Given the description of an element on the screen output the (x, y) to click on. 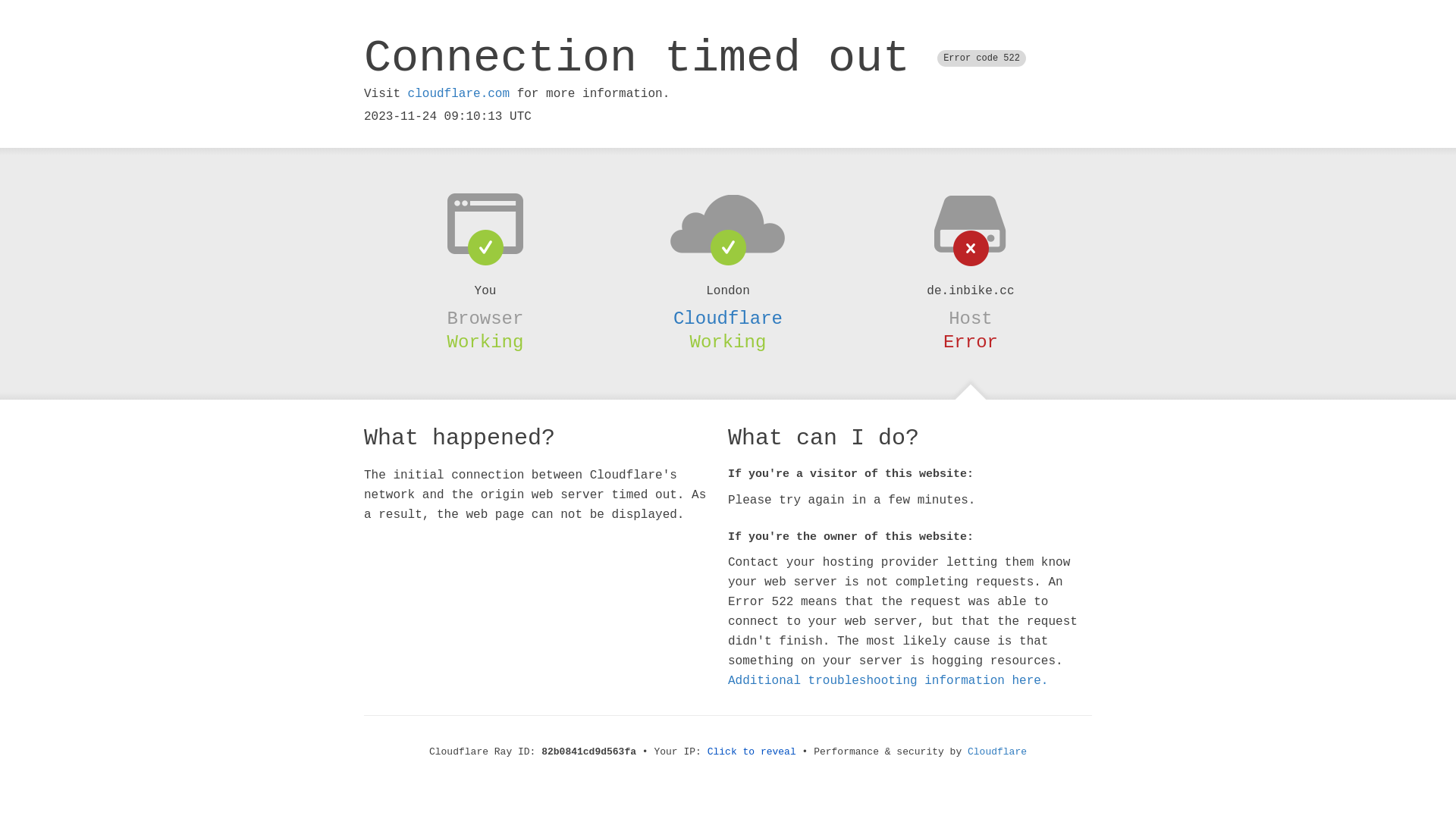
Cloudflare Element type: text (996, 751)
Additional troubleshooting information here. Element type: text (888, 680)
Cloudflare Element type: text (727, 318)
cloudflare.com Element type: text (458, 93)
Click to reveal Element type: text (751, 751)
